Given the description of an element on the screen output the (x, y) to click on. 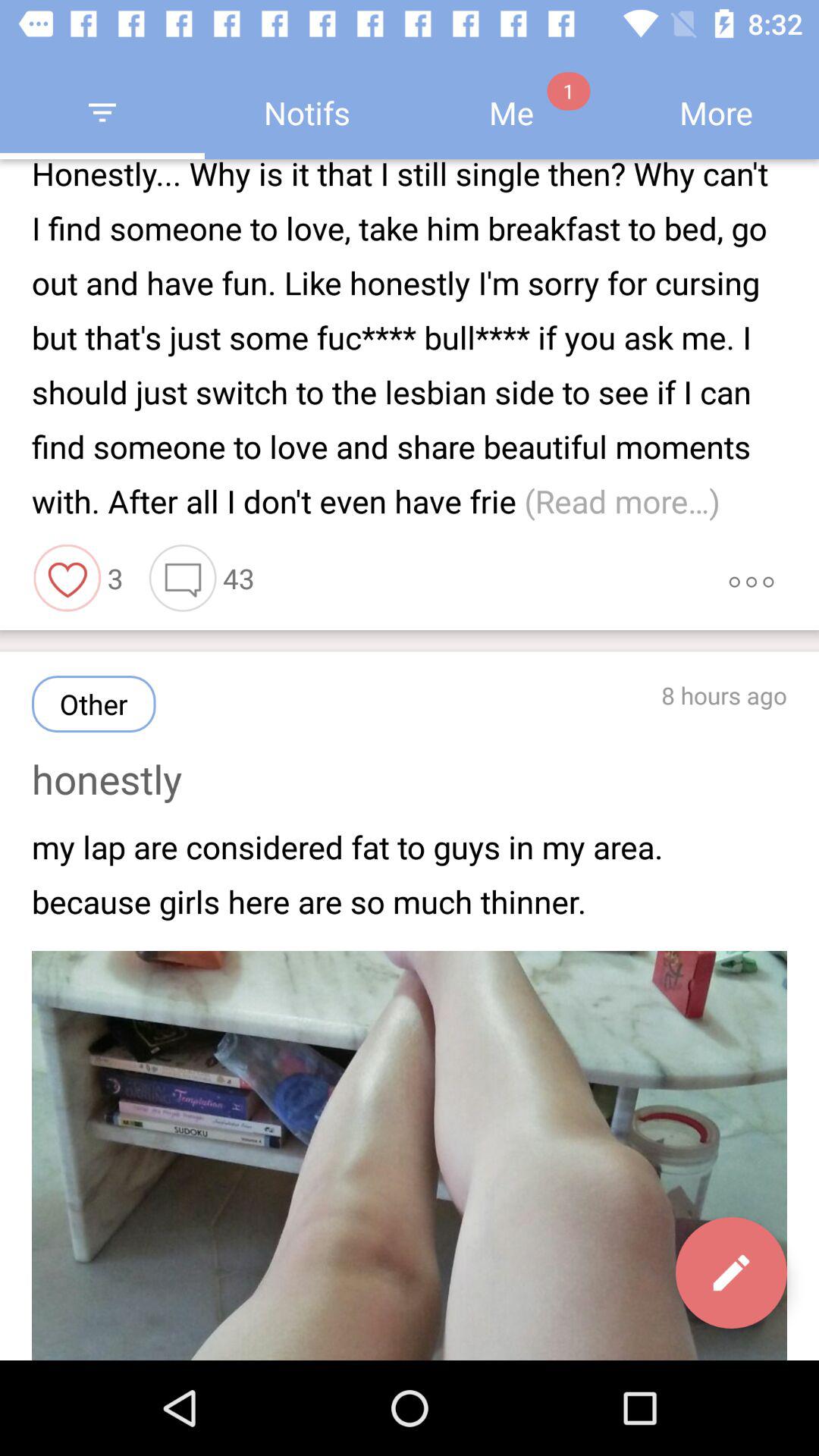
select the option of edit on the right corner of the page (731, 1273)
select the menu icon which on the right side of the page (751, 578)
click on the image of leg (409, 1154)
select the image above the text other (67, 578)
select the button which is above honestly (93, 703)
